Given the description of an element on the screen output the (x, y) to click on. 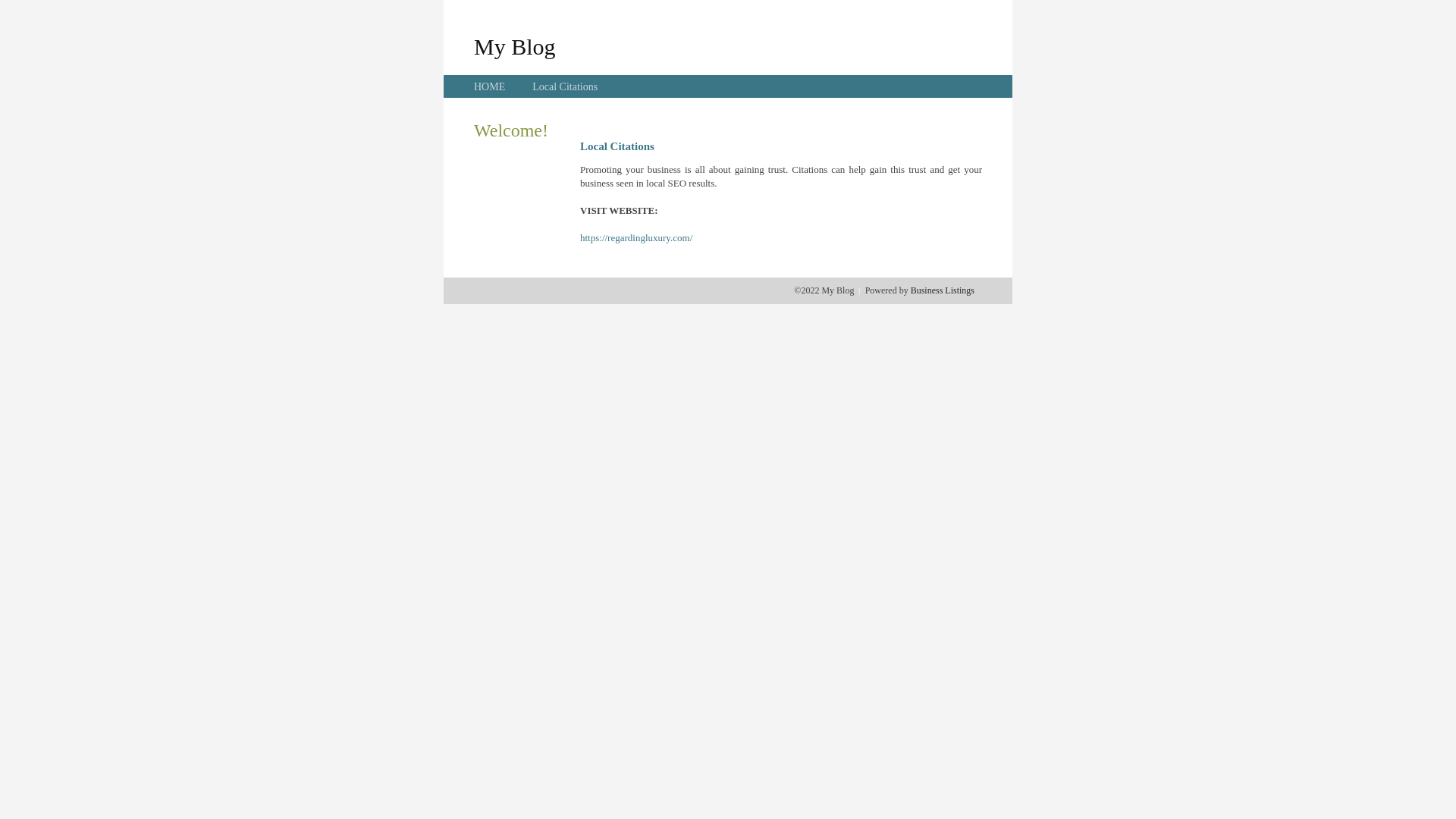
Local Citations Element type: text (564, 86)
My Blog Element type: text (514, 46)
https://regardingluxury.com/ Element type: text (636, 237)
HOME Element type: text (489, 86)
Business Listings Element type: text (942, 290)
